Given the description of an element on the screen output the (x, y) to click on. 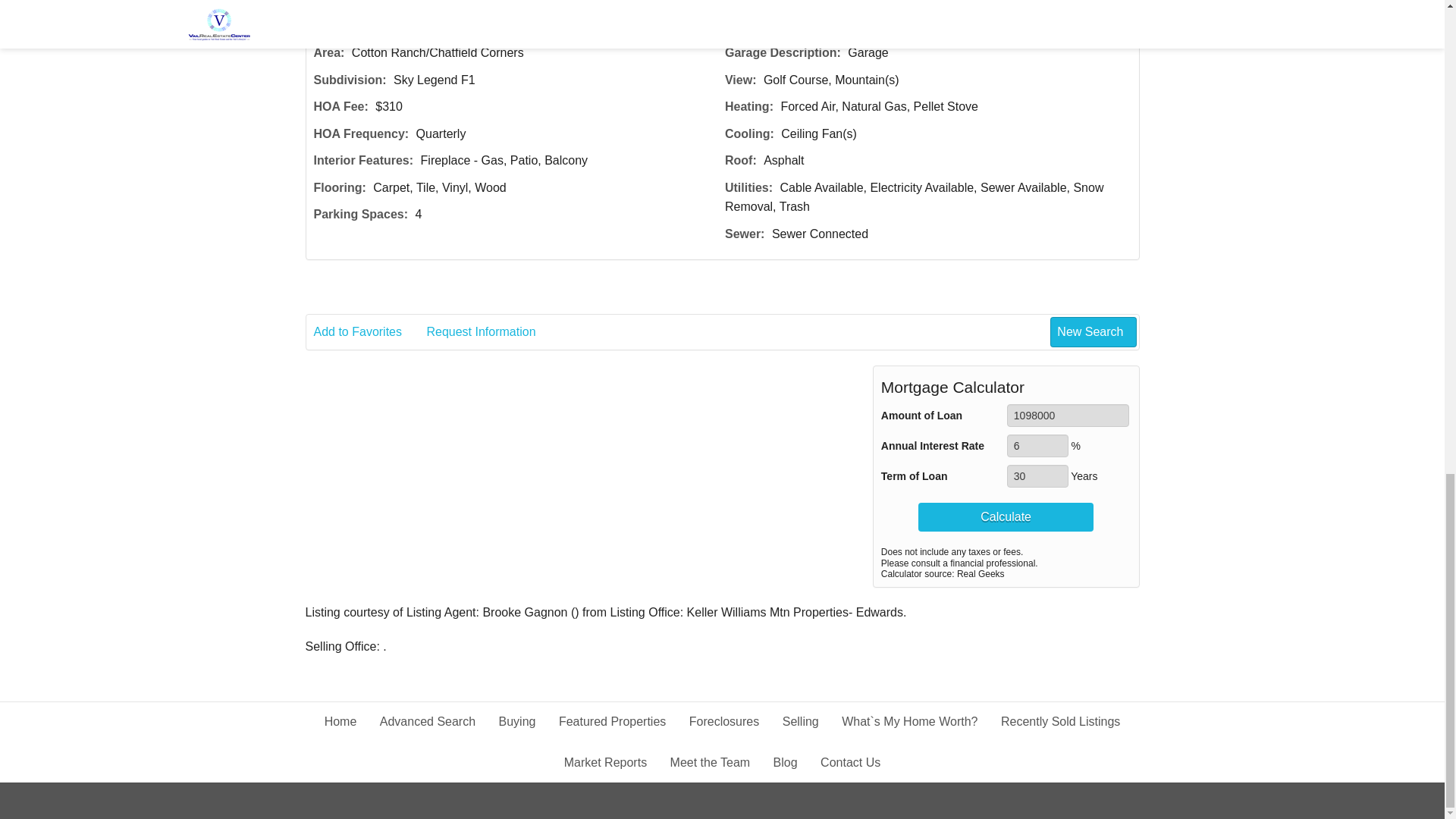
6 (1037, 445)
1098000 (1068, 415)
30 (1037, 476)
